Given the description of an element on the screen output the (x, y) to click on. 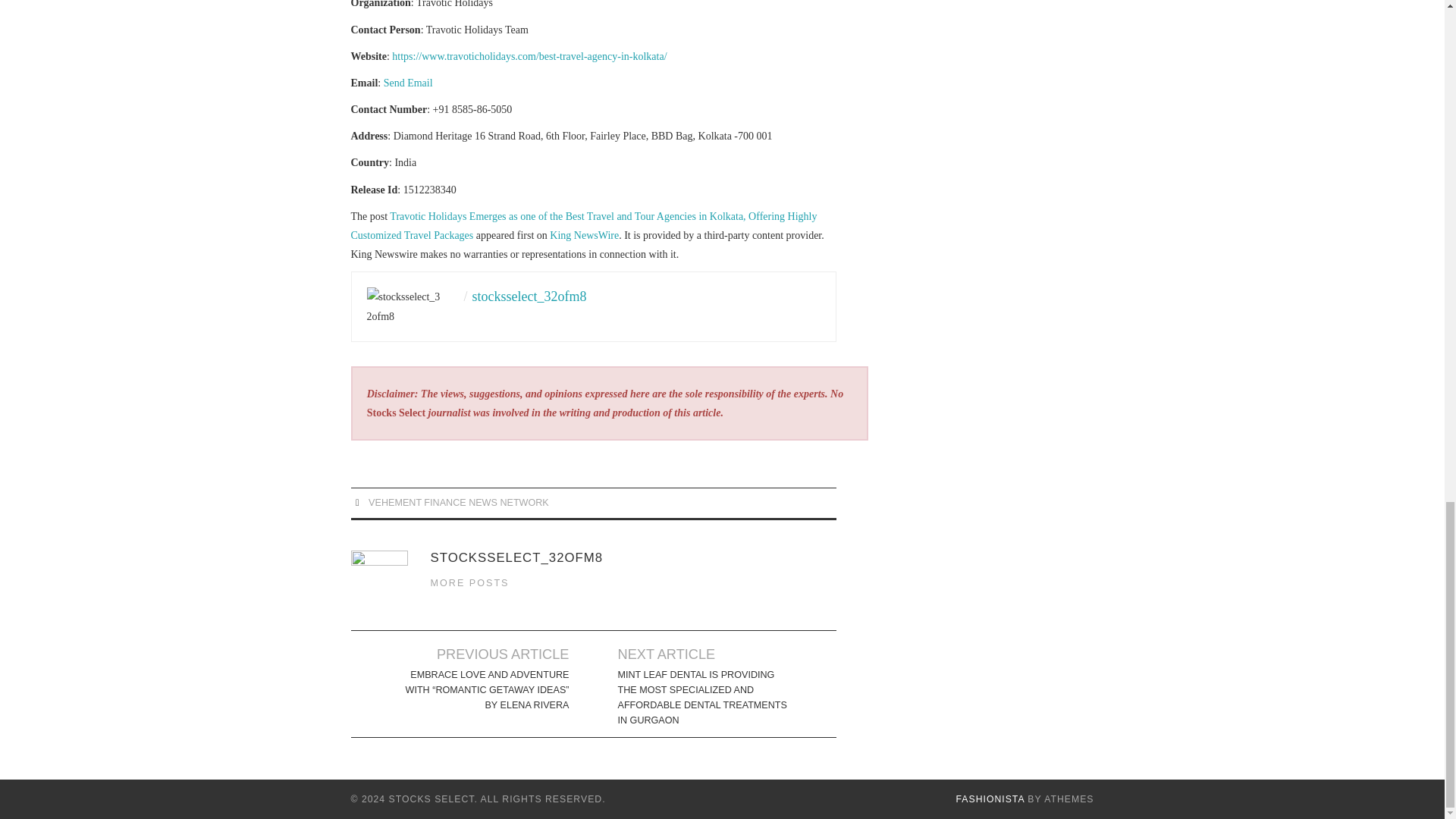
MORE POSTS (469, 583)
King NewsWire (584, 235)
VEHEMENT FINANCE NEWS NETWORK (458, 502)
Send Email (408, 82)
